Given the description of an element on the screen output the (x, y) to click on. 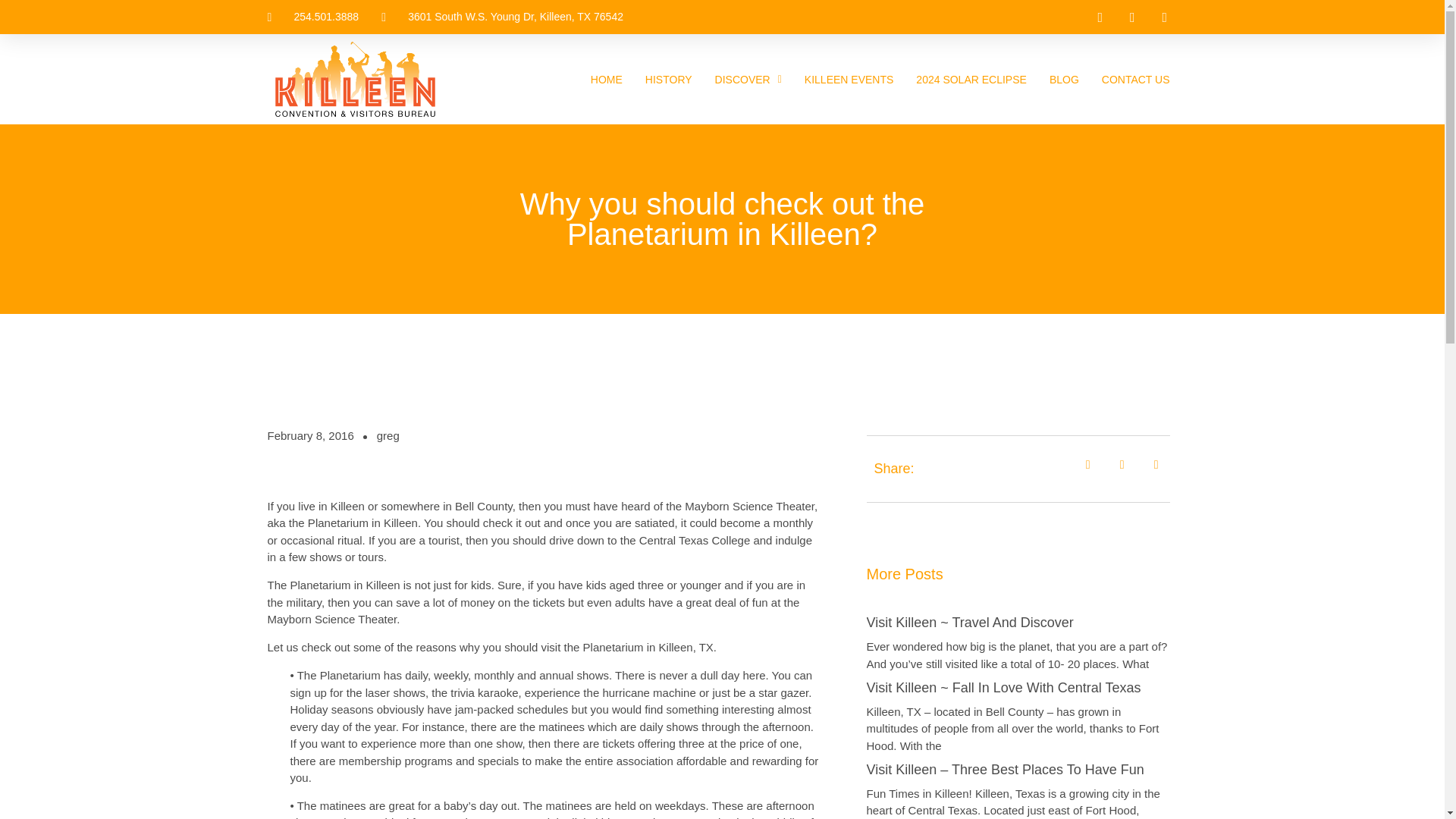
HOME (607, 79)
DISCOVER (747, 79)
greg (387, 436)
HISTORY (669, 79)
KILLEEN EVENTS (849, 79)
2024 SOLAR ECLIPSE (970, 79)
February 8, 2016 (309, 436)
CONTACT US (1136, 79)
